Given the description of an element on the screen output the (x, y) to click on. 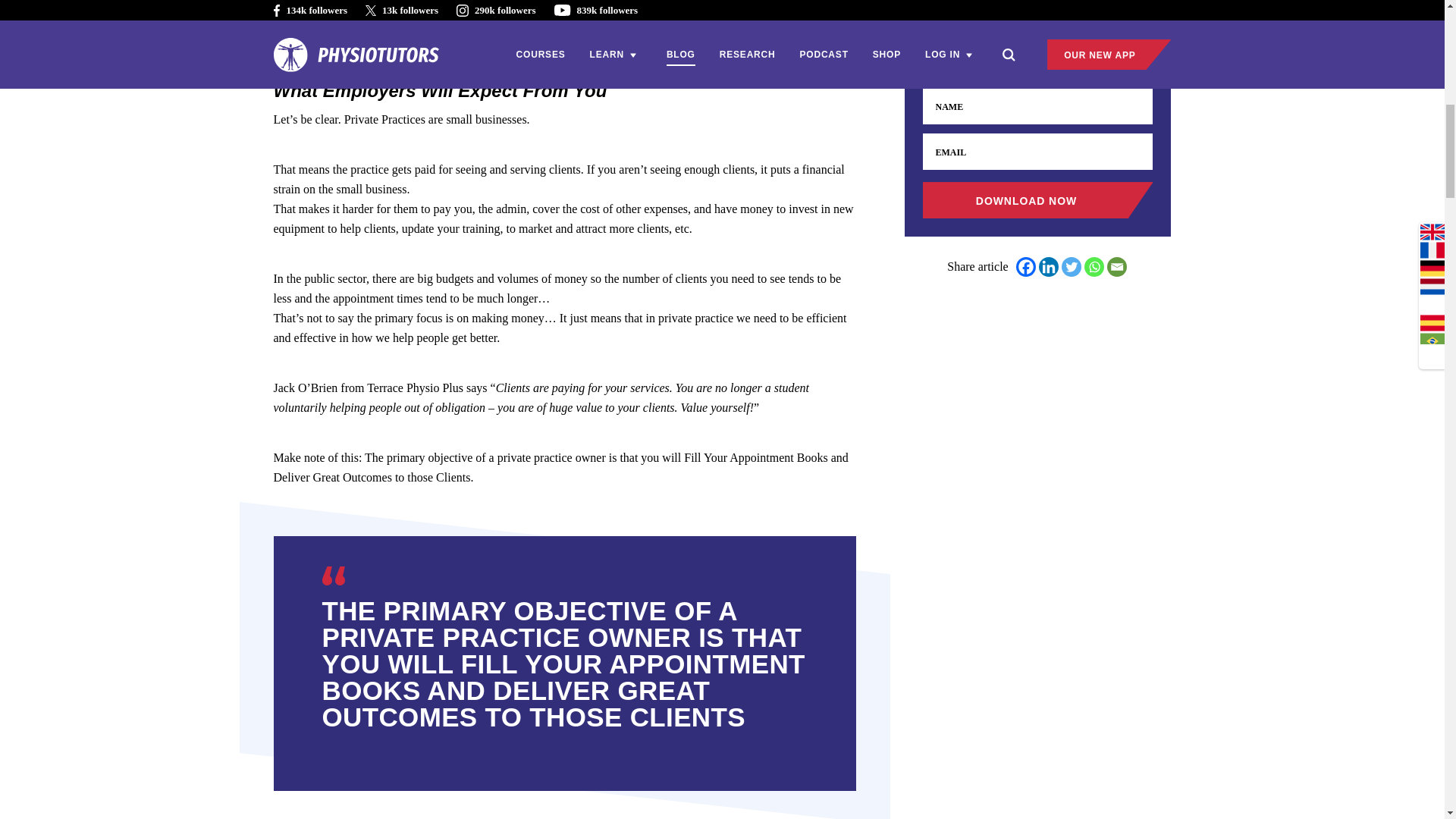
Facebook (1025, 266)
Whatsapp (1093, 266)
Twitter (1071, 266)
Linkedin (1048, 266)
Email (1116, 266)
DOWNLOAD NOW (1037, 199)
Clinic Mastery (482, 2)
